Given the description of an element on the screen output the (x, y) to click on. 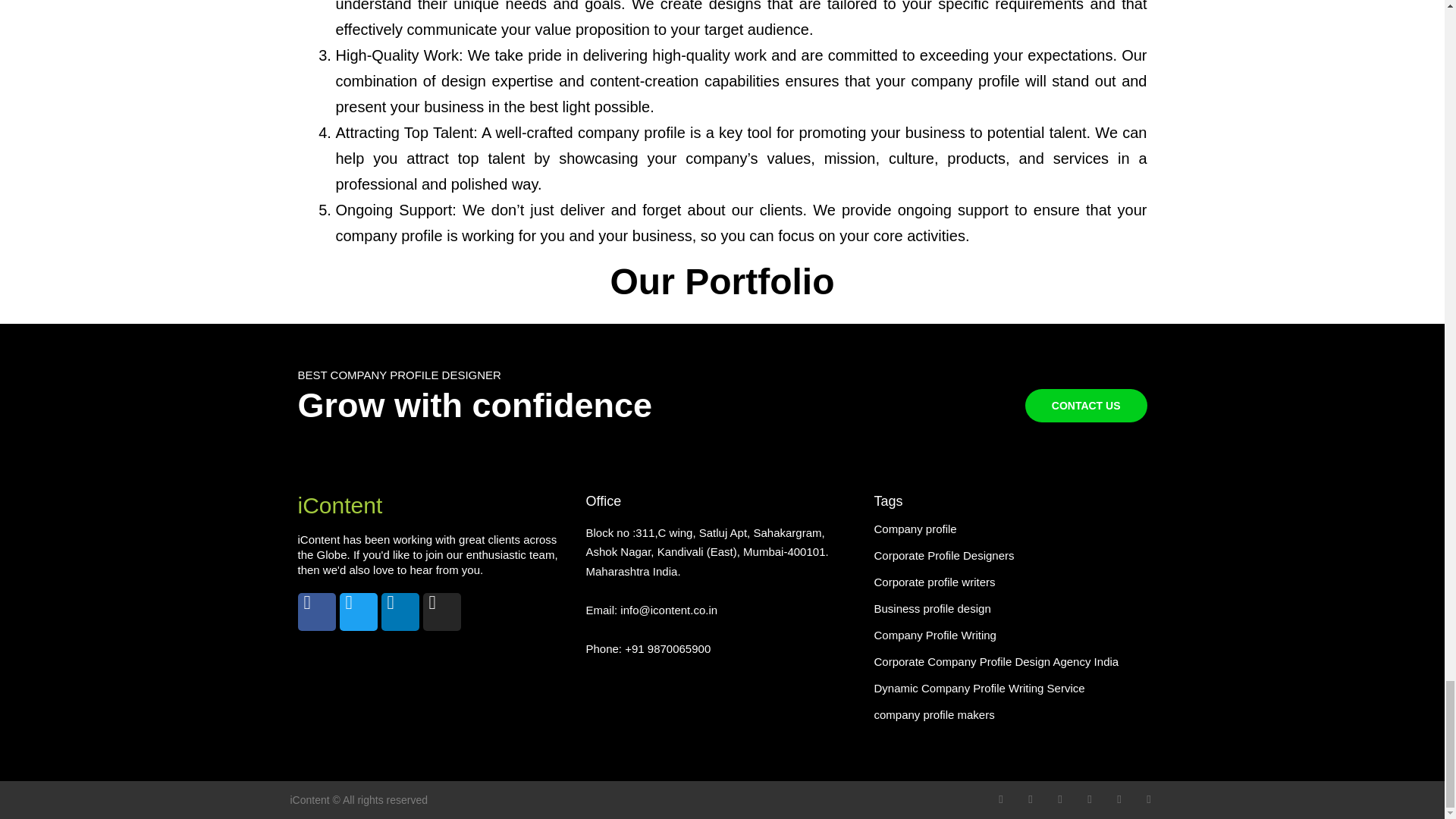
CONTACT US (1086, 405)
Company profile (914, 528)
Dynamic Company Profile Writing Service (978, 687)
Corporate profile writers (933, 581)
Business profile design (931, 608)
Corporate Profile Designers (943, 554)
Corporate Company Profile Design Agency India (995, 661)
Company Profile Writing (934, 634)
company profile makers (933, 714)
